Given the description of an element on the screen output the (x, y) to click on. 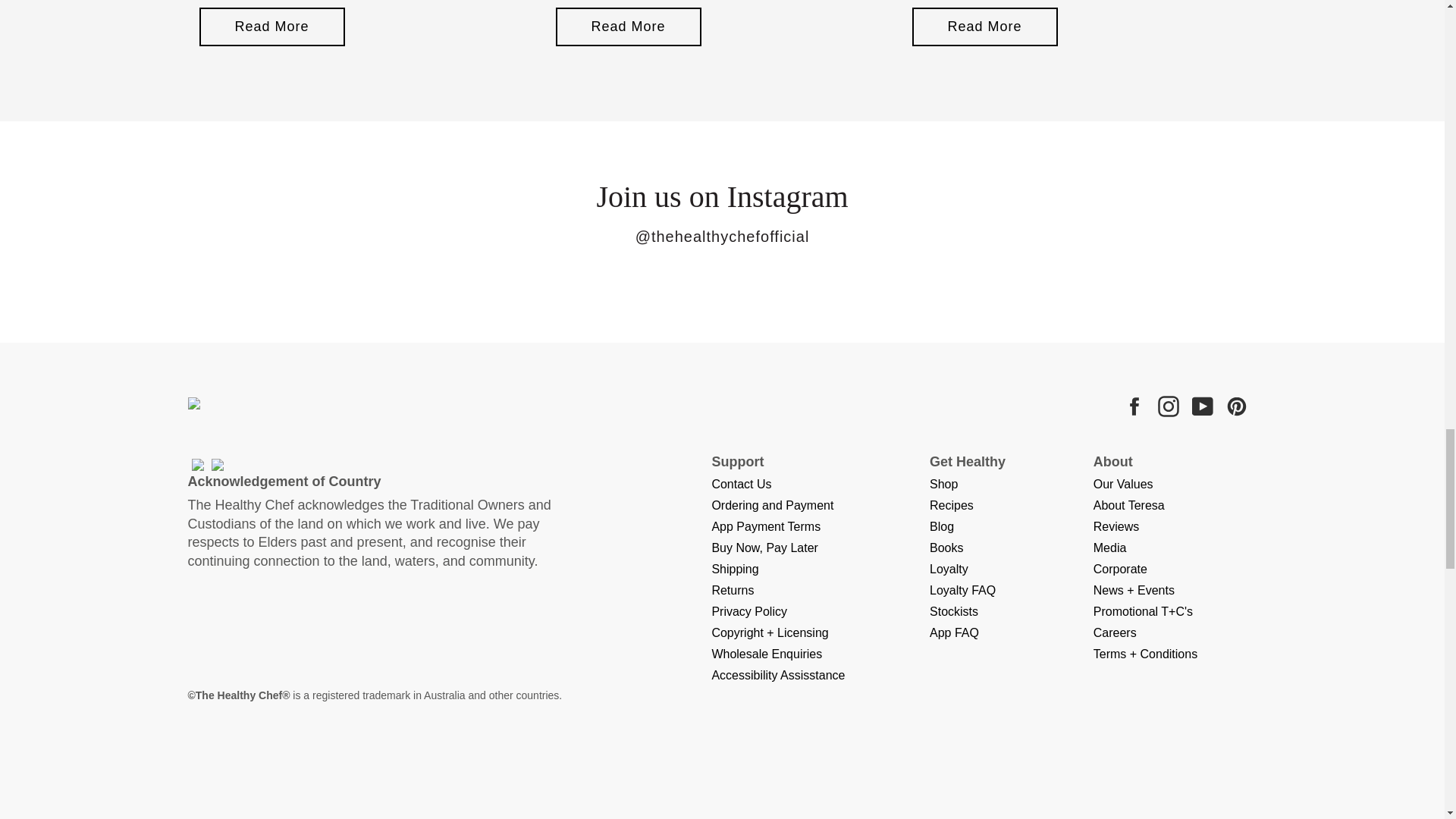
The Healthy Chef on YouTube (1204, 405)
The Healthy Chef on Instagram (1169, 405)
The Healthy Chef on Pinterest (1237, 405)
The Healthy Chef on Facebook (1136, 405)
